Given the description of an element on the screen output the (x, y) to click on. 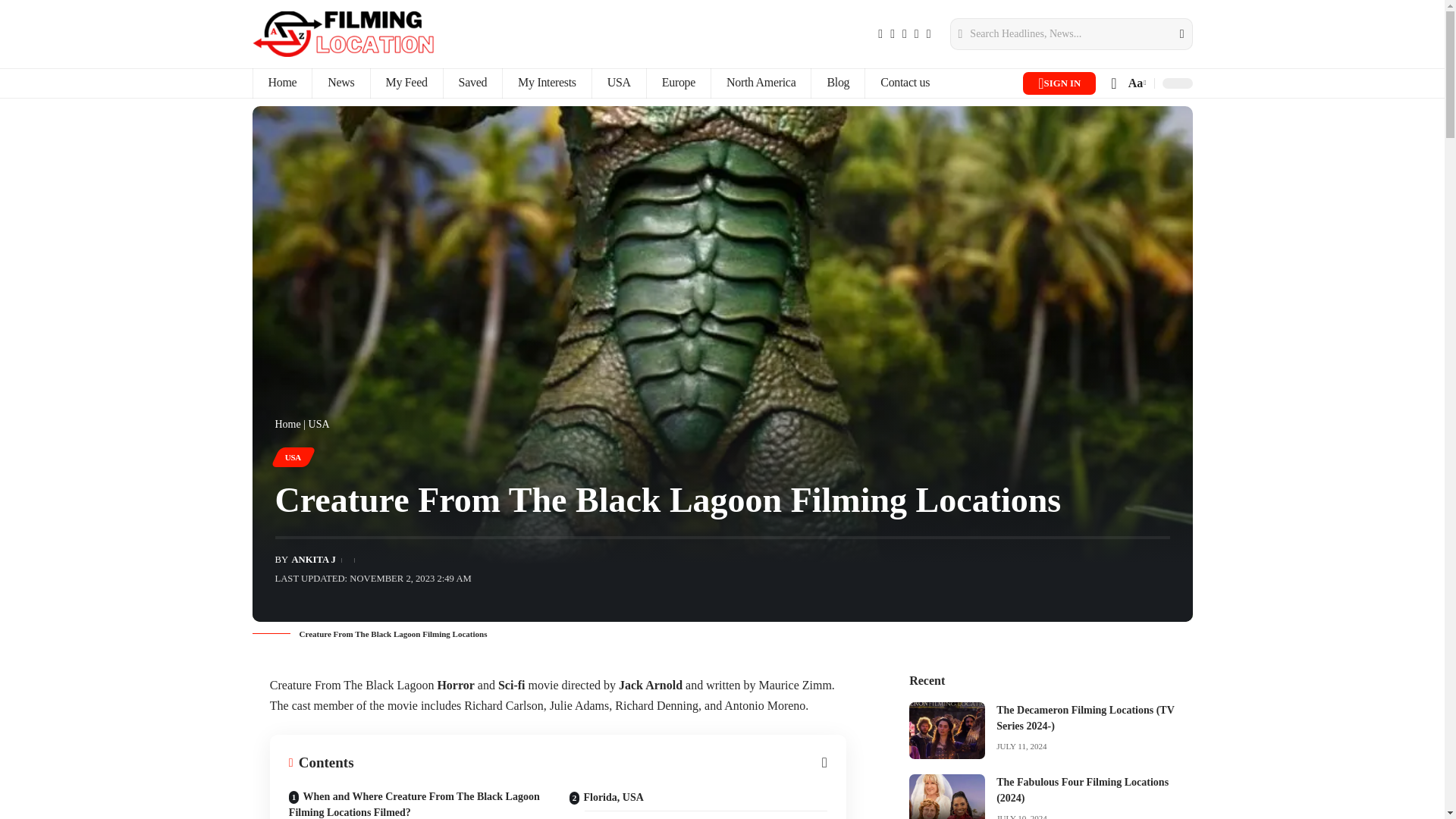
Search (1172, 33)
My Interests (546, 82)
Home (281, 82)
Europe (678, 82)
SIGN IN (1059, 83)
My Feed (405, 82)
USA (618, 82)
North America (760, 82)
A2Z Filming Location (342, 33)
